Given the description of an element on the screen output the (x, y) to click on. 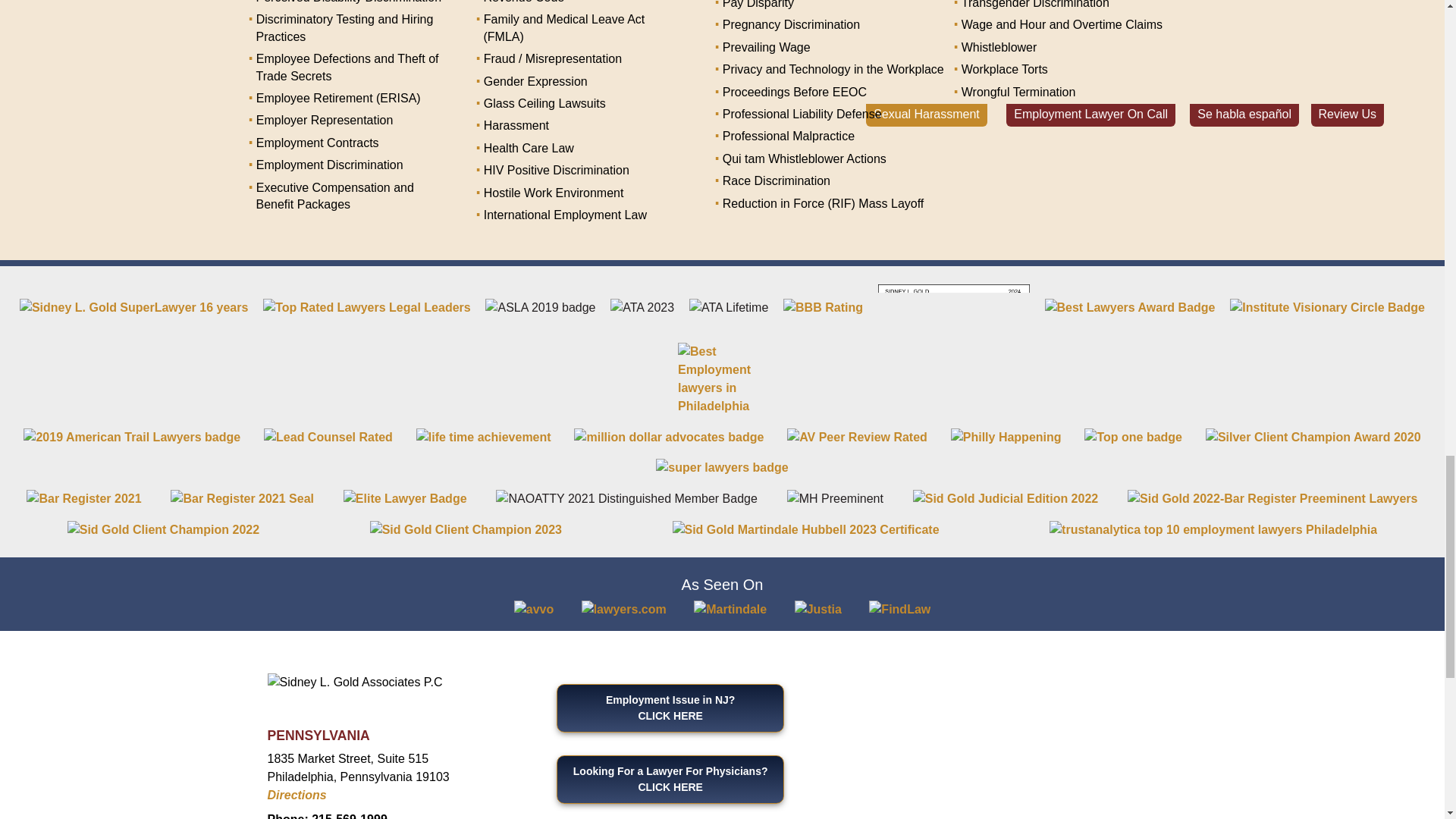
trustanalytica (1213, 528)
Best Lawyers - Lawyer Logo (953, 307)
View Profile (405, 497)
